Given the description of an element on the screen output the (x, y) to click on. 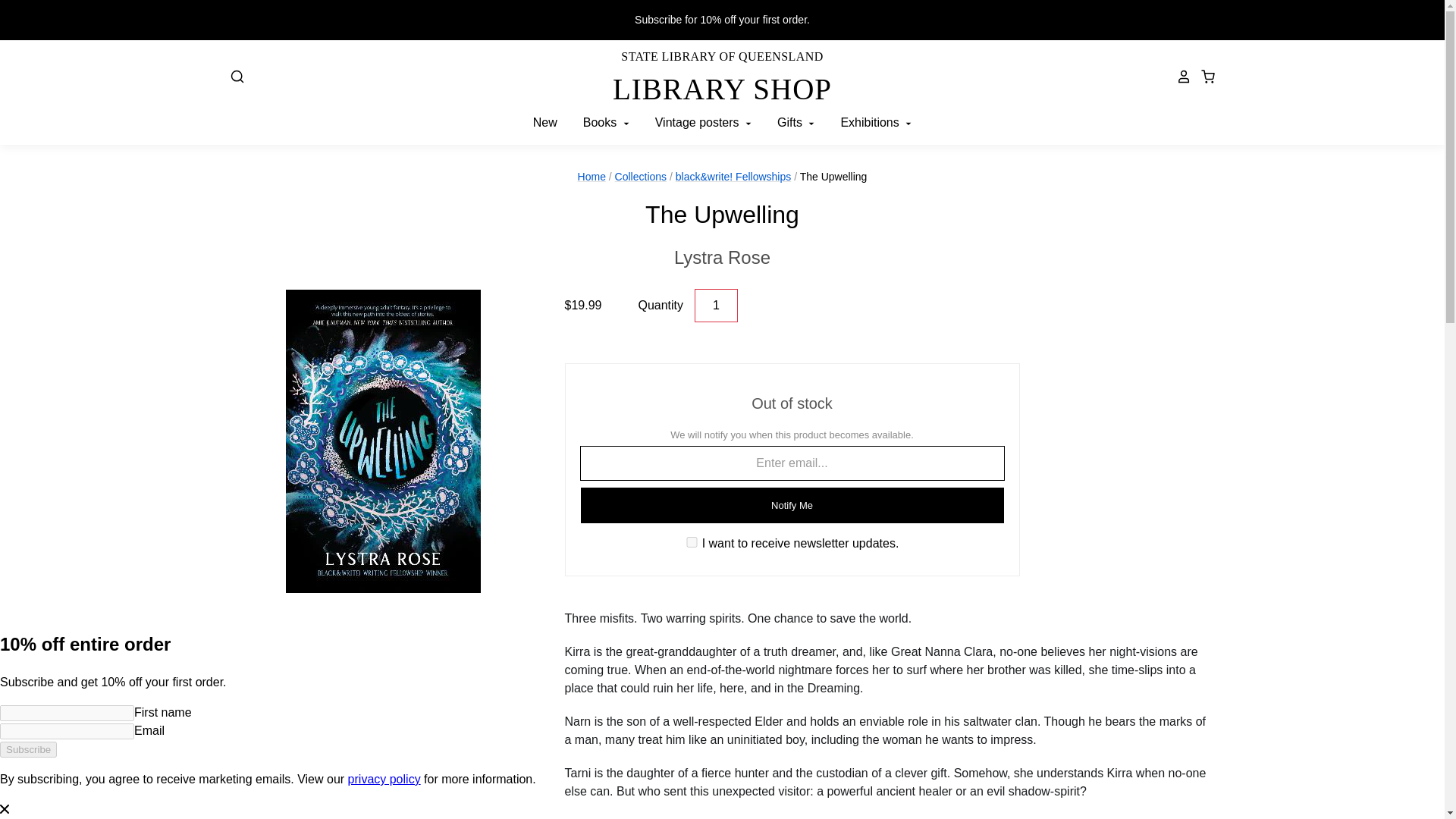
on (691, 542)
1 (722, 257)
